Given the description of an element on the screen output the (x, y) to click on. 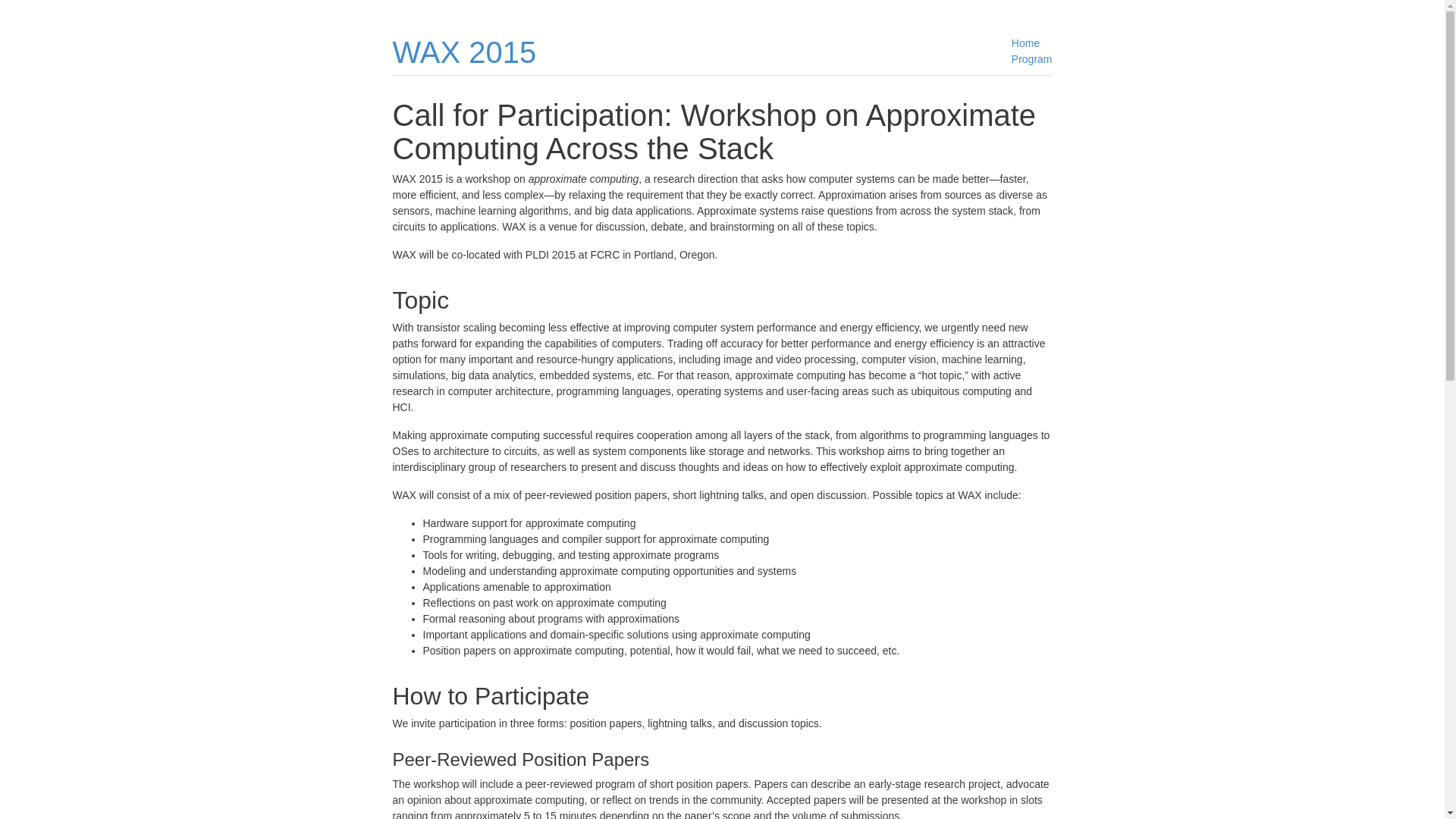
Program (1031, 59)
WAX 2015 (465, 52)
Home (1025, 42)
